Given the description of an element on the screen output the (x, y) to click on. 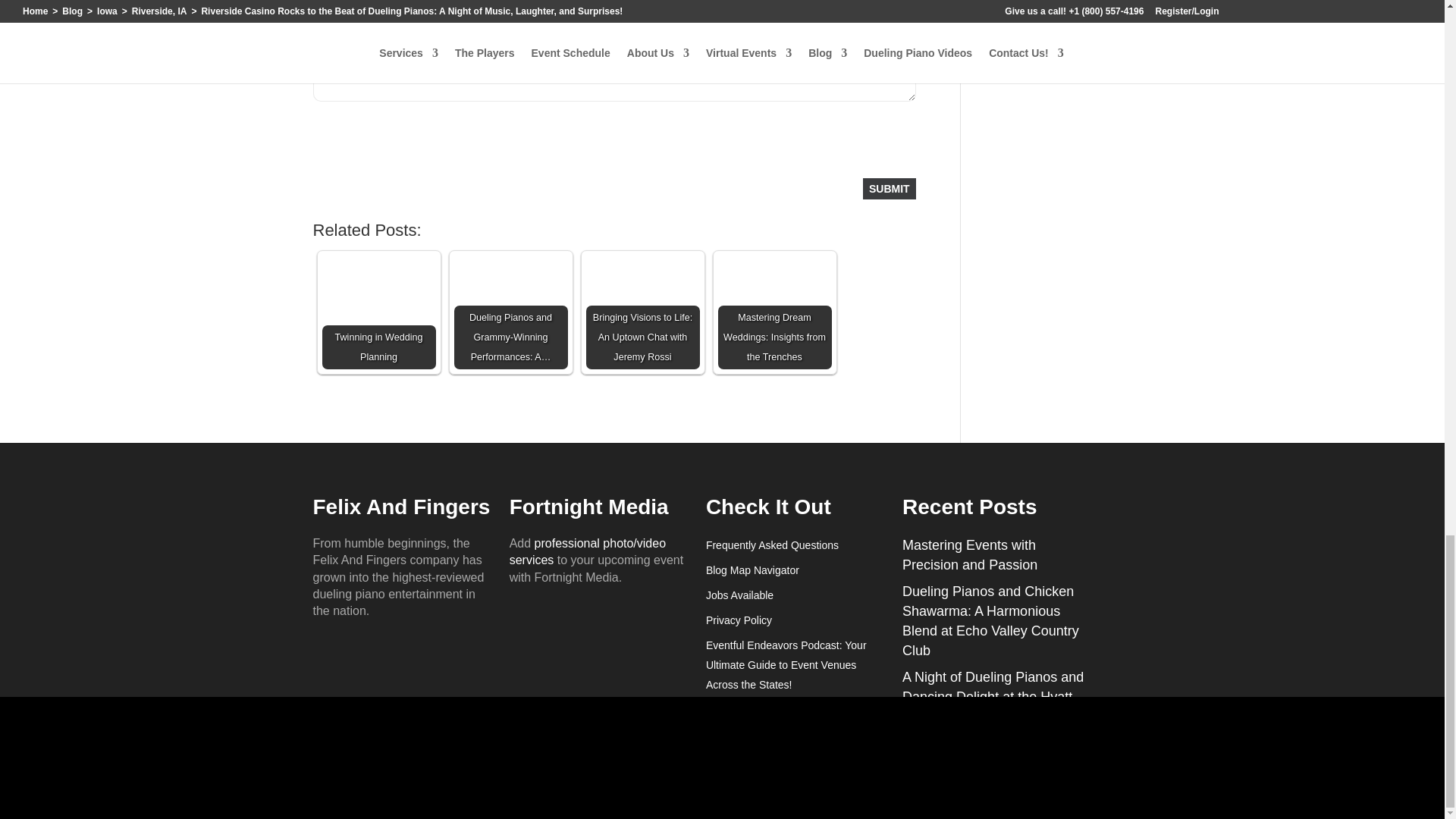
Bringing Visions to Life: An Uptown Chat with Jeremy Rossi (641, 312)
Twinning in Wedding Planning (378, 312)
Mastering Dream Weddings: Insights from the Trenches (774, 312)
Submit (889, 188)
Mastering Events with Precision and Passion (969, 554)
